Given the description of an element on the screen output the (x, y) to click on. 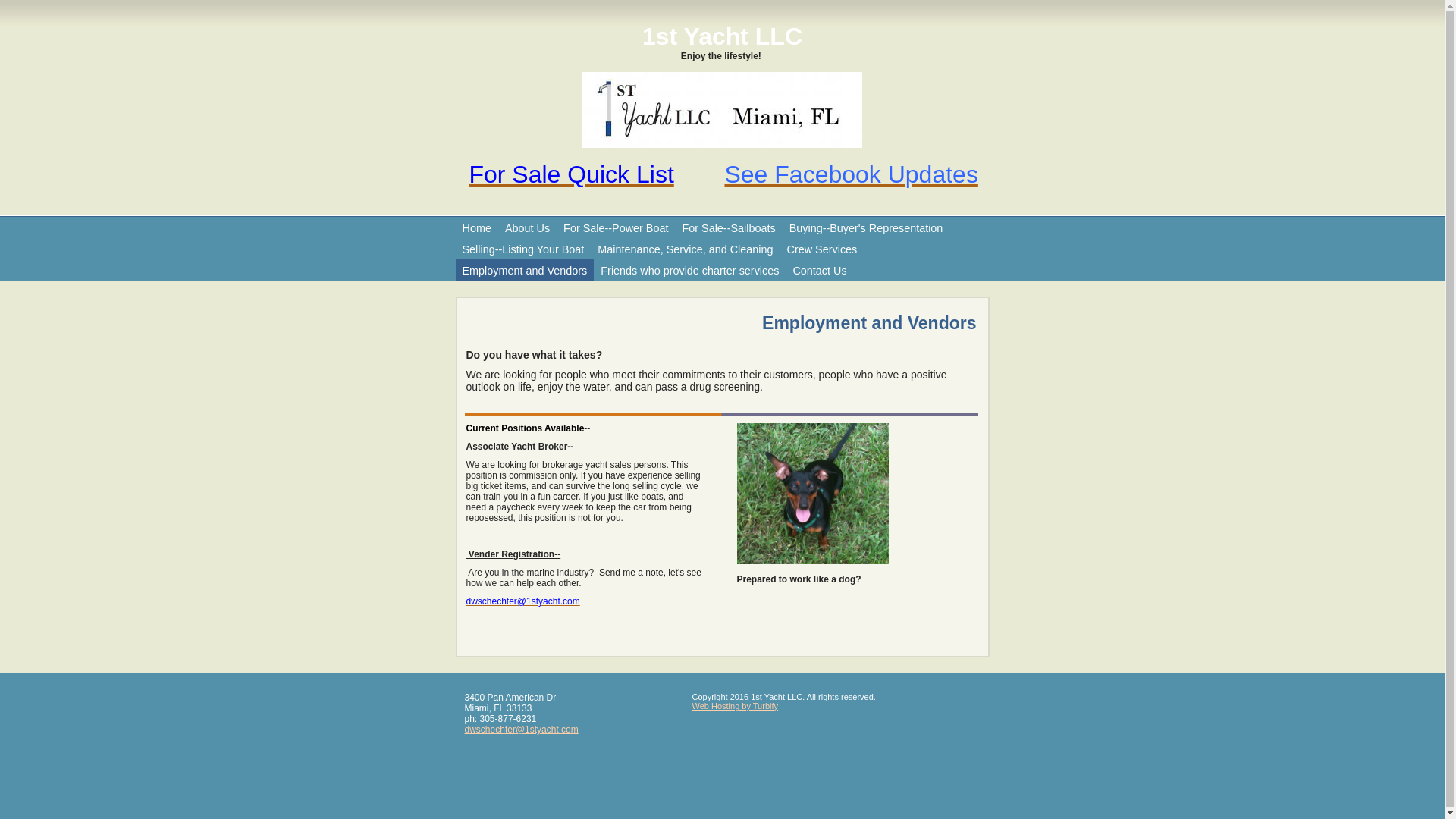
See Facebook Updates Element type: text (850, 174)
For Sale--Sailboats Element type: text (727, 227)
For Sale--Power Boat Element type: text (615, 227)
Web Hosting by Turbify Element type: text (734, 705)
For Sale Quick List Element type: text (570, 174)
Buying--Buyer's Representation Element type: text (866, 227)
Friends who provide charter services Element type: text (689, 269)
dwschechter@1styacht.com Element type: text (522, 601)
Crew Services Element type: text (822, 248)
dwschechter@1styacht.com Element type: text (520, 729)
About Us Element type: text (527, 227)
Home Element type: text (476, 227)
Selling--Listing Your Boat Element type: text (522, 248)
Contact Us Element type: text (819, 269)
Employment and Vendors Element type: text (524, 269)
Maintenance, Service, and Cleaning Element type: text (684, 248)
